Given the description of an element on the screen output the (x, y) to click on. 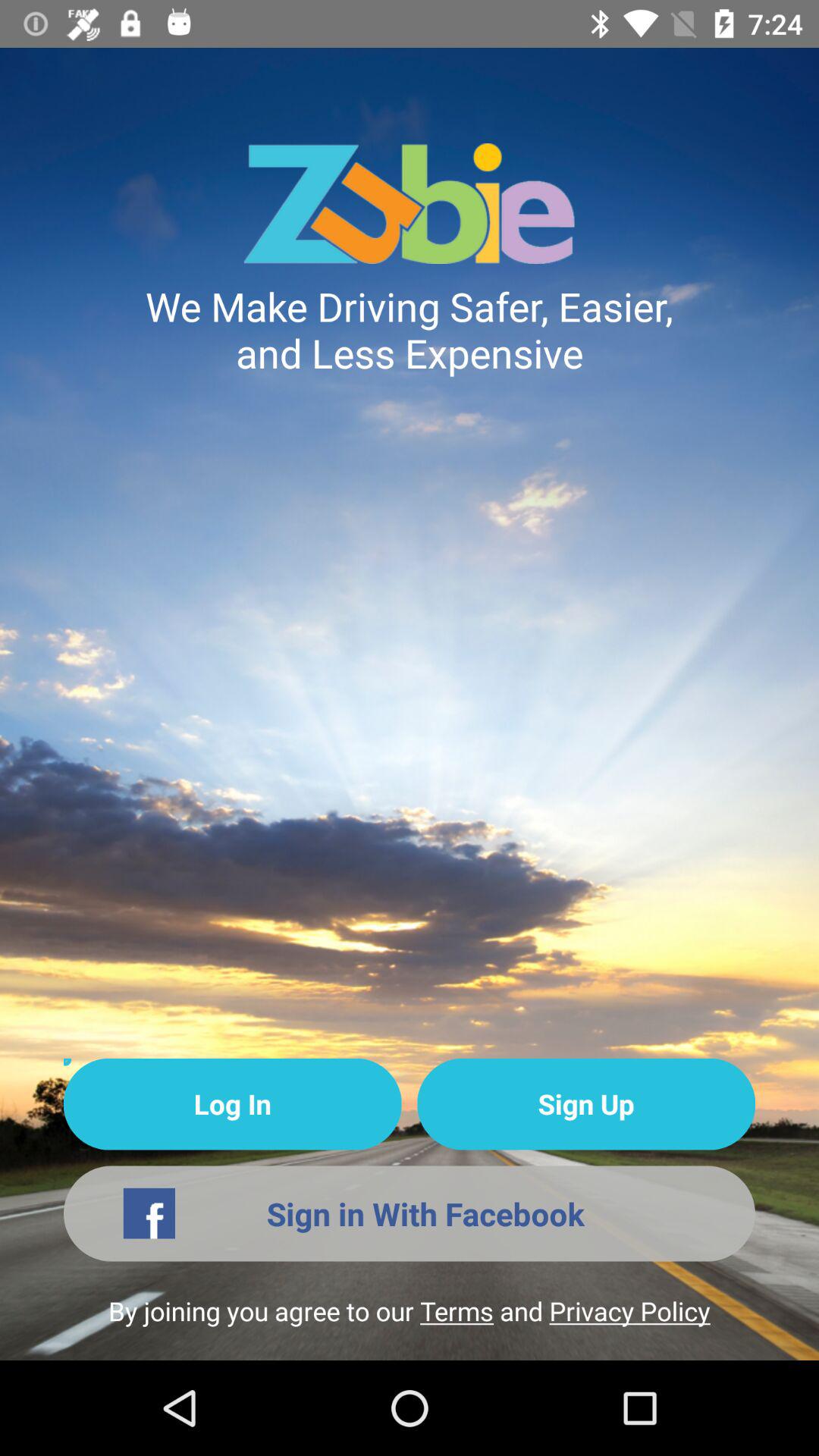
select the icon next to log in item (586, 1104)
